Given the description of an element on the screen output the (x, y) to click on. 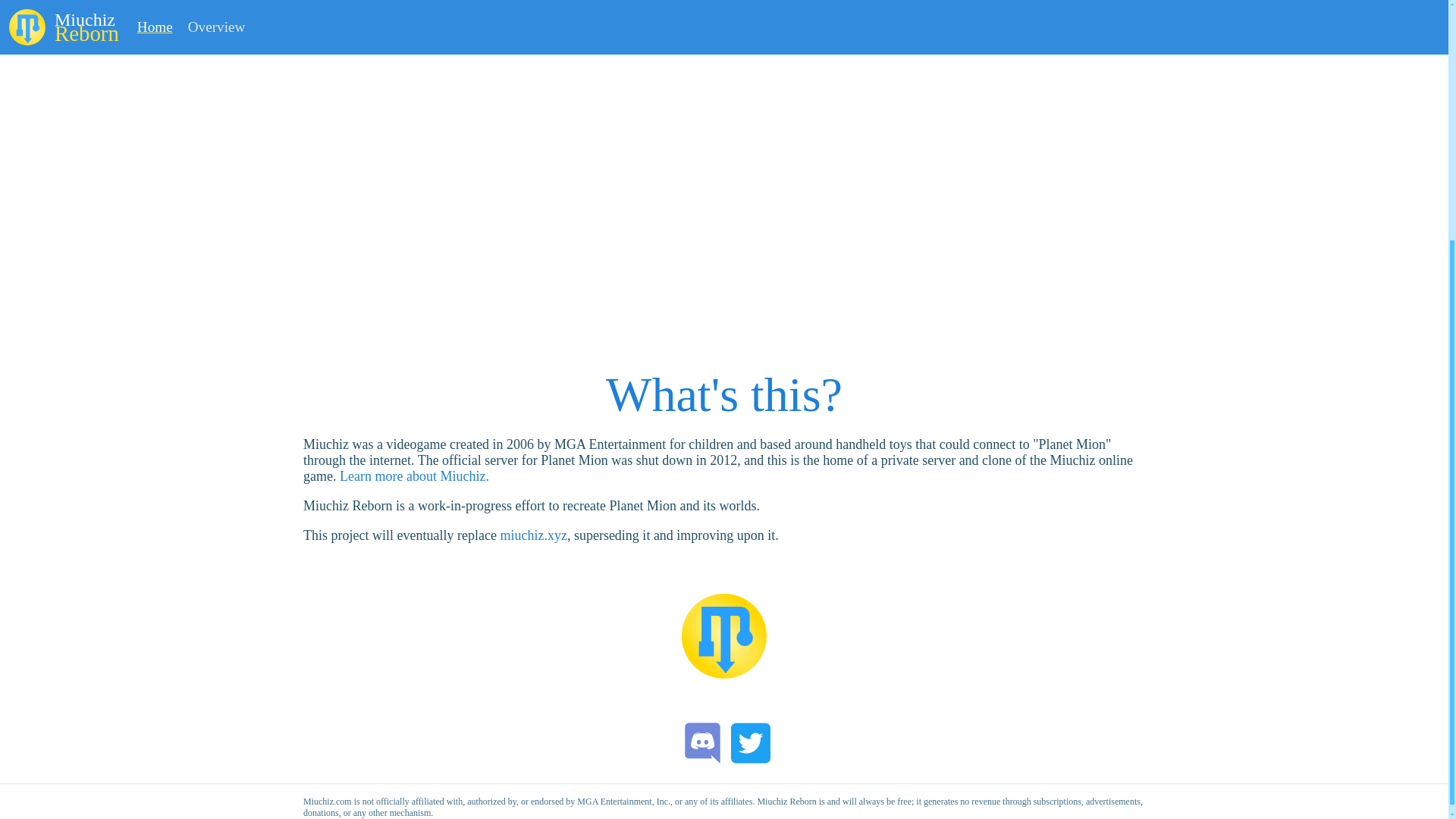
Learn more about Miuchiz. (414, 476)
miuchiz.xyz (532, 534)
